Given the description of an element on the screen output the (x, y) to click on. 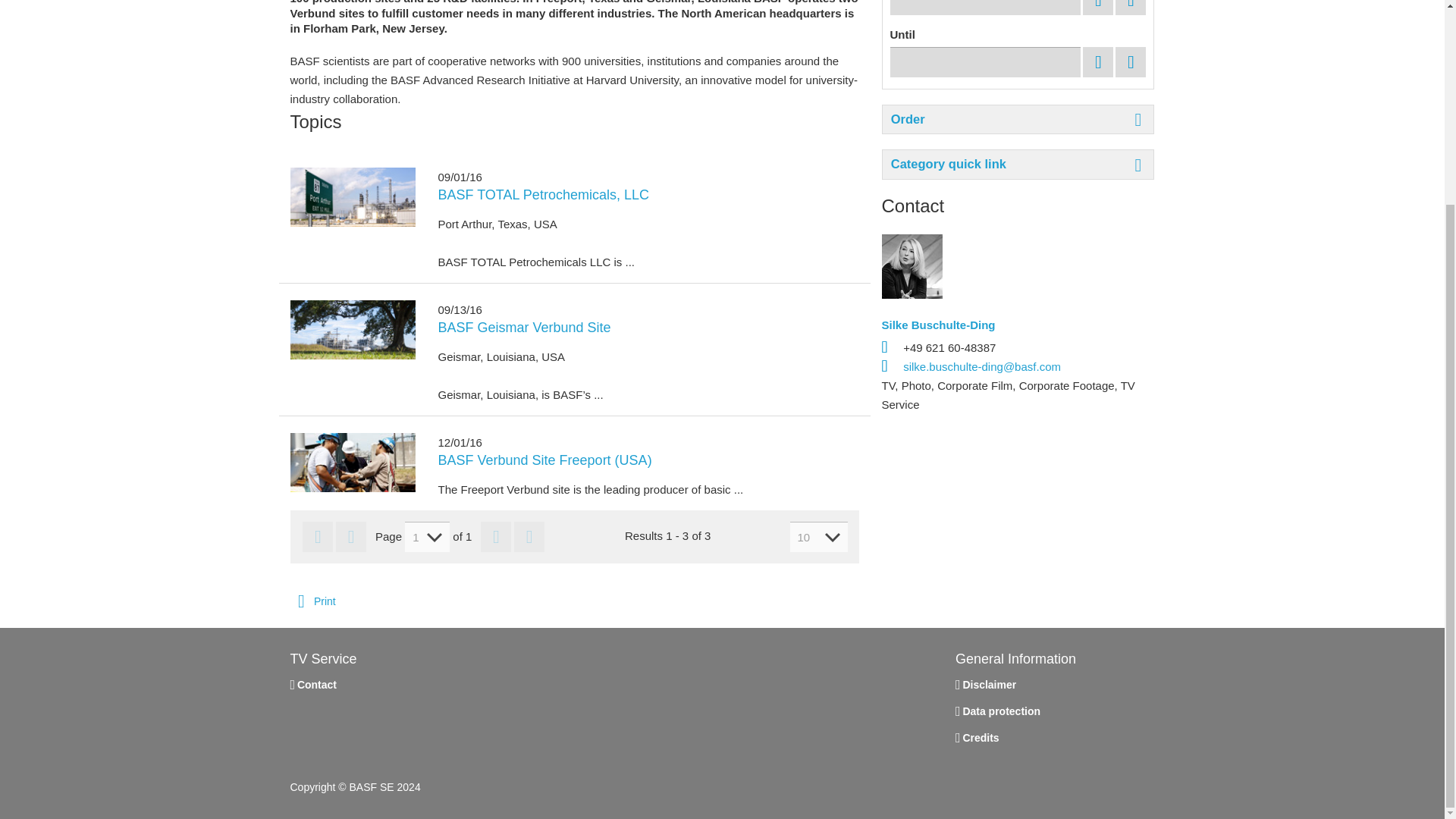
 Central European Time (985, 60)
Delete date (1130, 60)
last page (528, 536)
Results per page (818, 536)
Phone  (889, 347)
first page (317, 536)
BASF TOTAL Petrochemicals, LLC (648, 194)
Select date (1098, 60)
 Central European Time (985, 7)
Select date (1098, 7)
BASF Geismar Verbund Site (648, 327)
previous page (351, 536)
next page (495, 536)
Delete date (1130, 7)
